Given the description of an element on the screen output the (x, y) to click on. 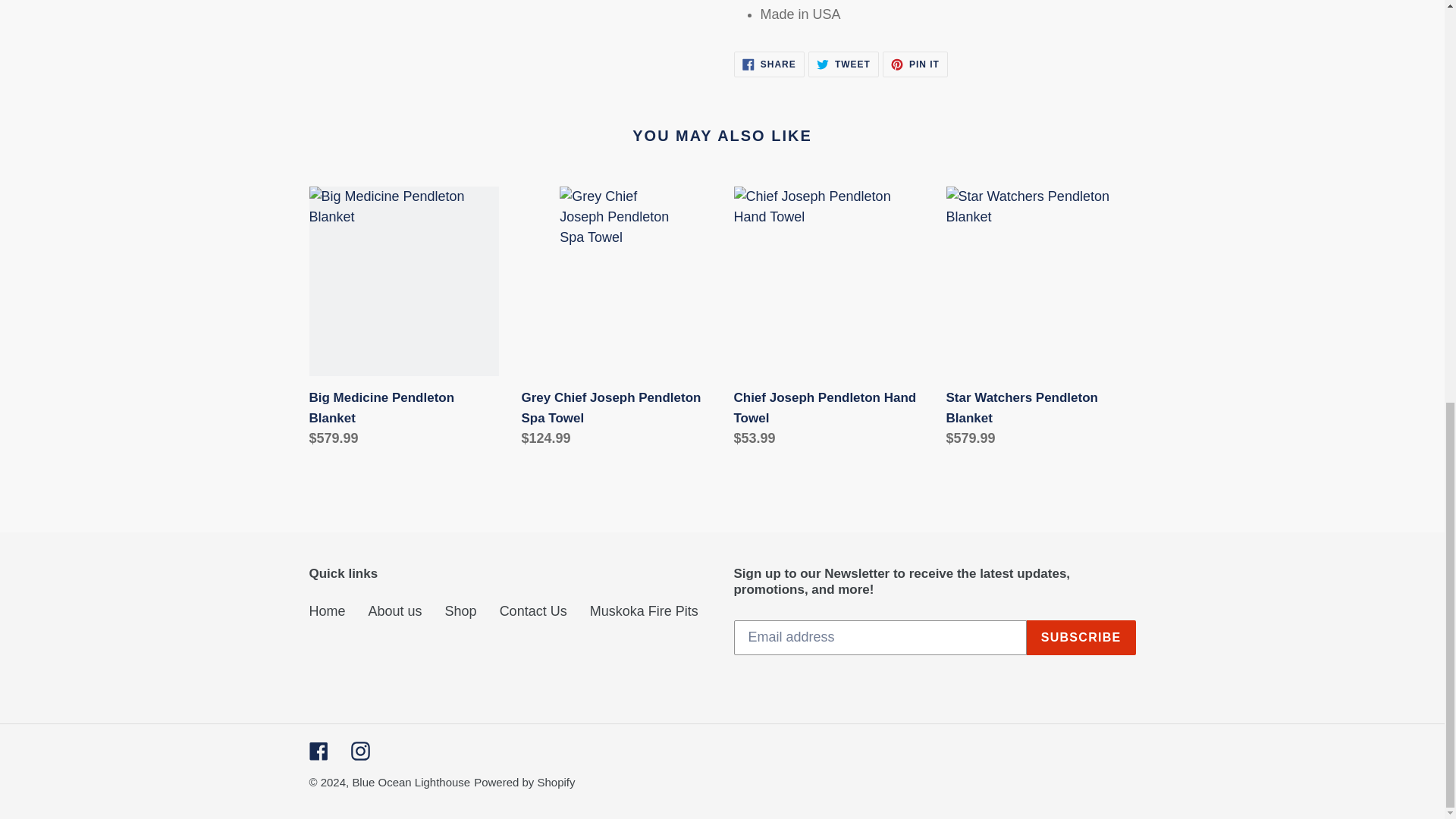
Home (327, 611)
Instagram (769, 63)
SUBSCRIBE (359, 750)
Facebook (1080, 637)
Shop (843, 63)
About us (914, 63)
Muskoka Fire Pits (318, 750)
